Given the description of an element on the screen output the (x, y) to click on. 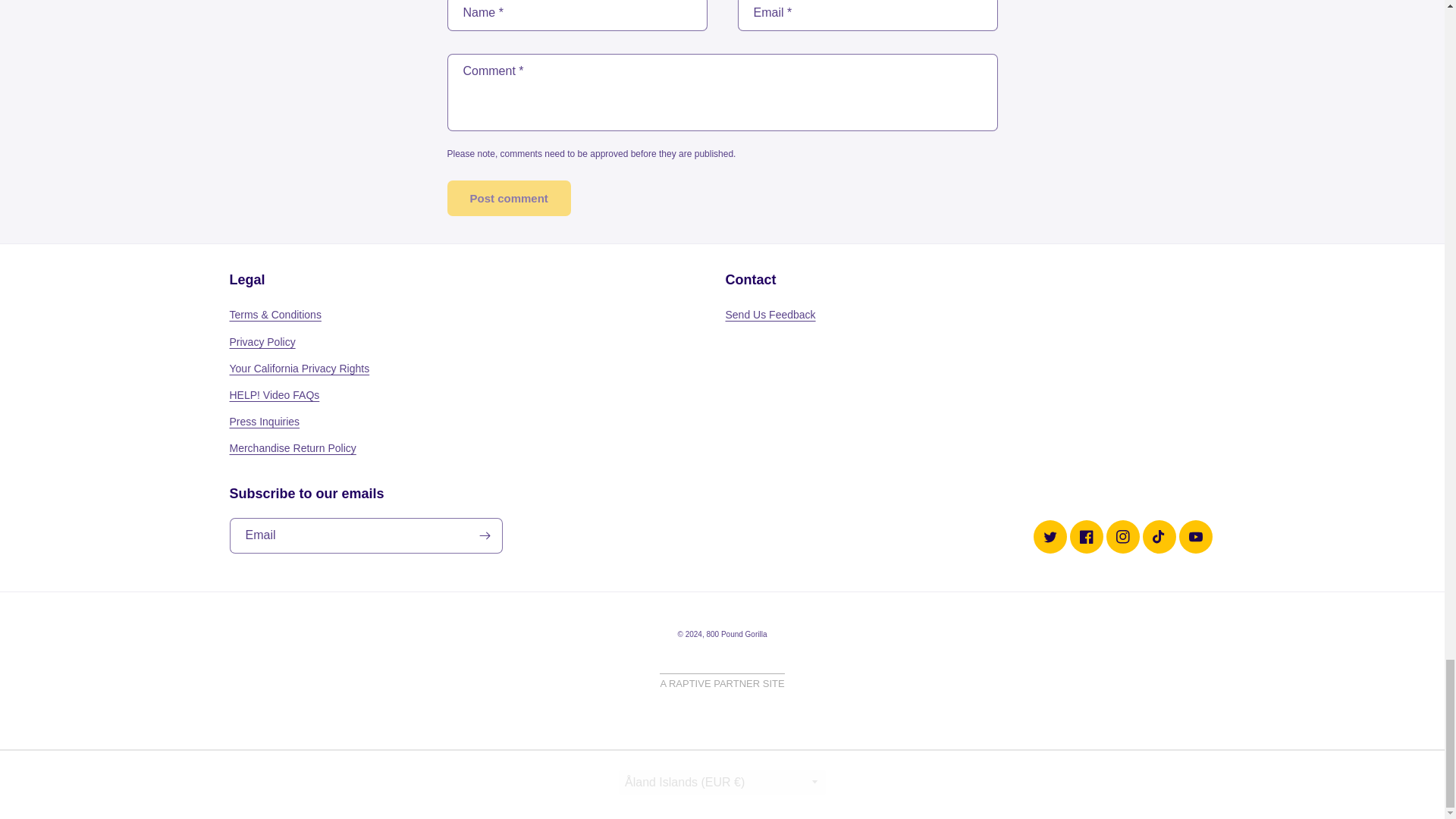
Post comment (508, 198)
